Given the description of an element on the screen output the (x, y) to click on. 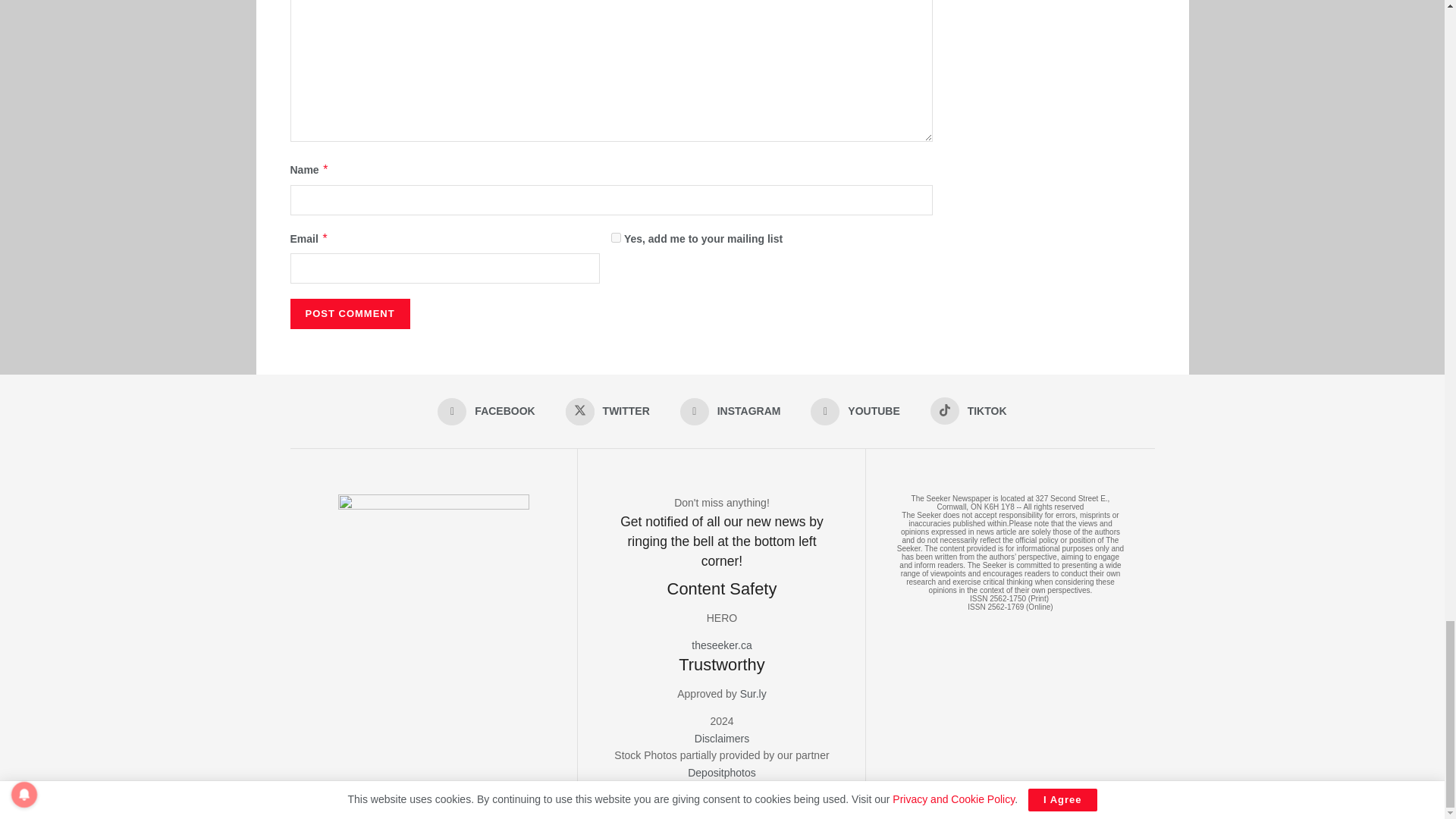
1 (616, 237)
Post Comment (349, 313)
